Given the description of an element on the screen output the (x, y) to click on. 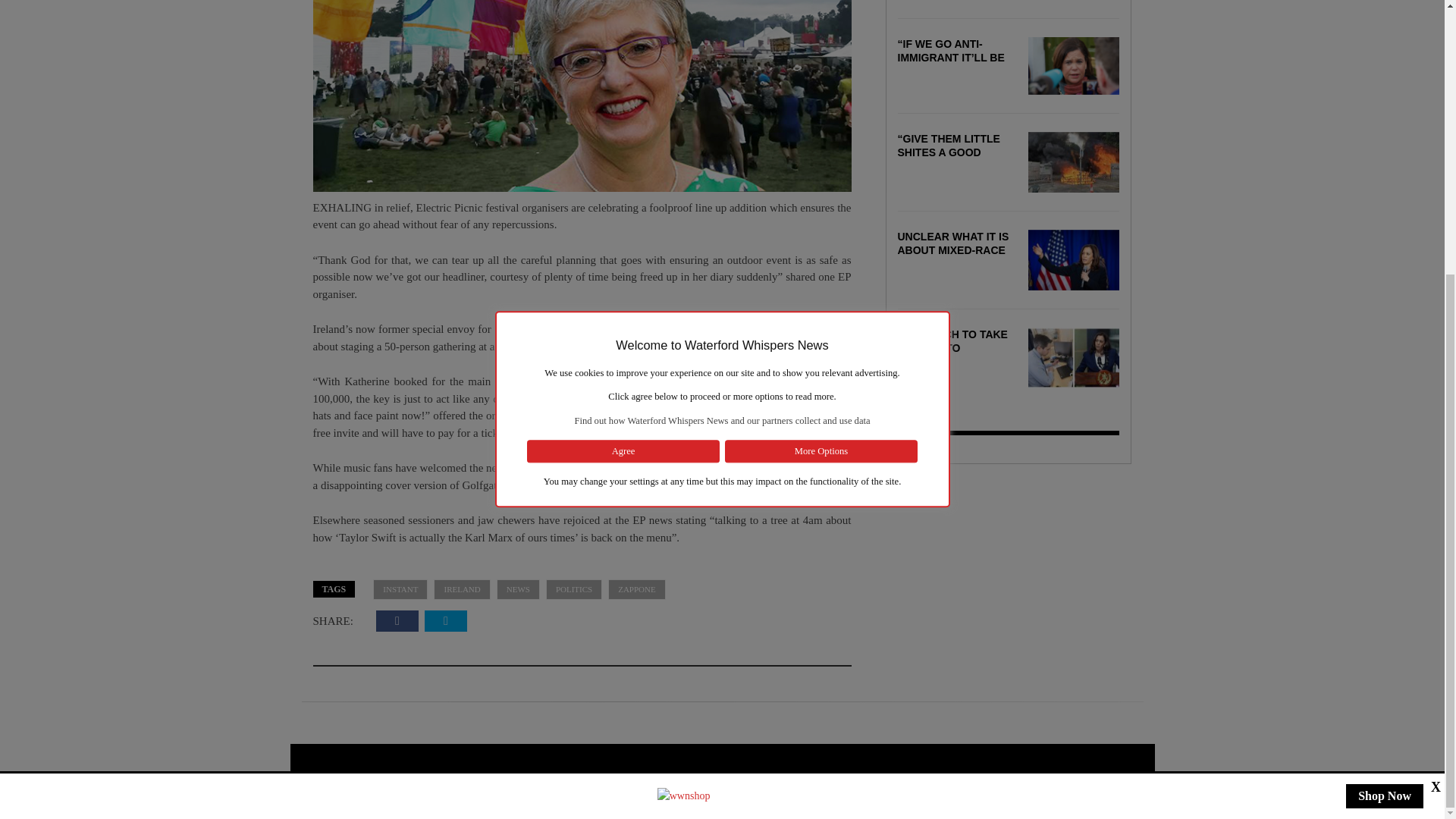
View all posts tagged ireland (461, 589)
Support us on waterfordwhispers.shop (684, 391)
View all posts tagged politics (574, 589)
View all posts tagged instant (400, 589)
Twitter (446, 620)
Facebook (396, 620)
View all posts tagged zappone (636, 589)
View all posts tagged news (518, 589)
